Given the description of an element on the screen output the (x, y) to click on. 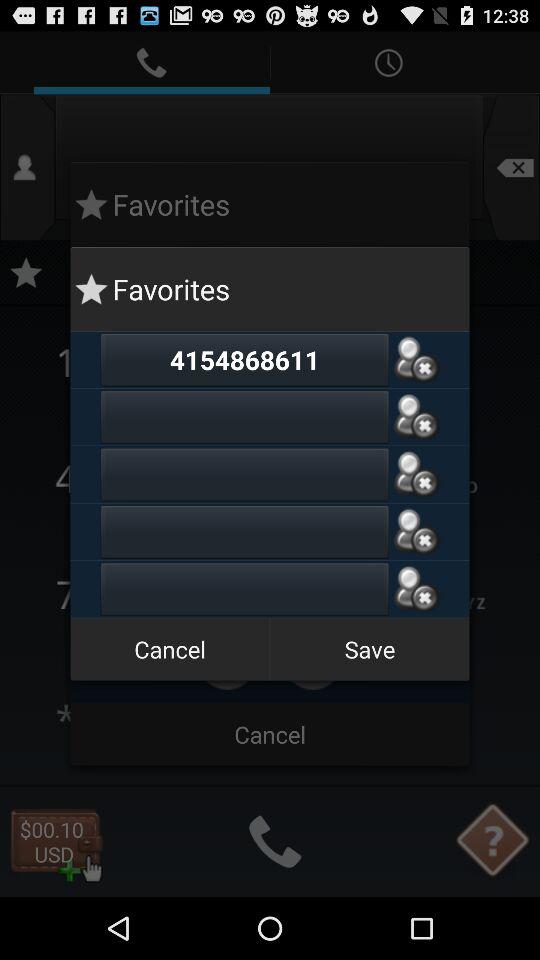
delet contact (416, 359)
